Given the description of an element on the screen output the (x, y) to click on. 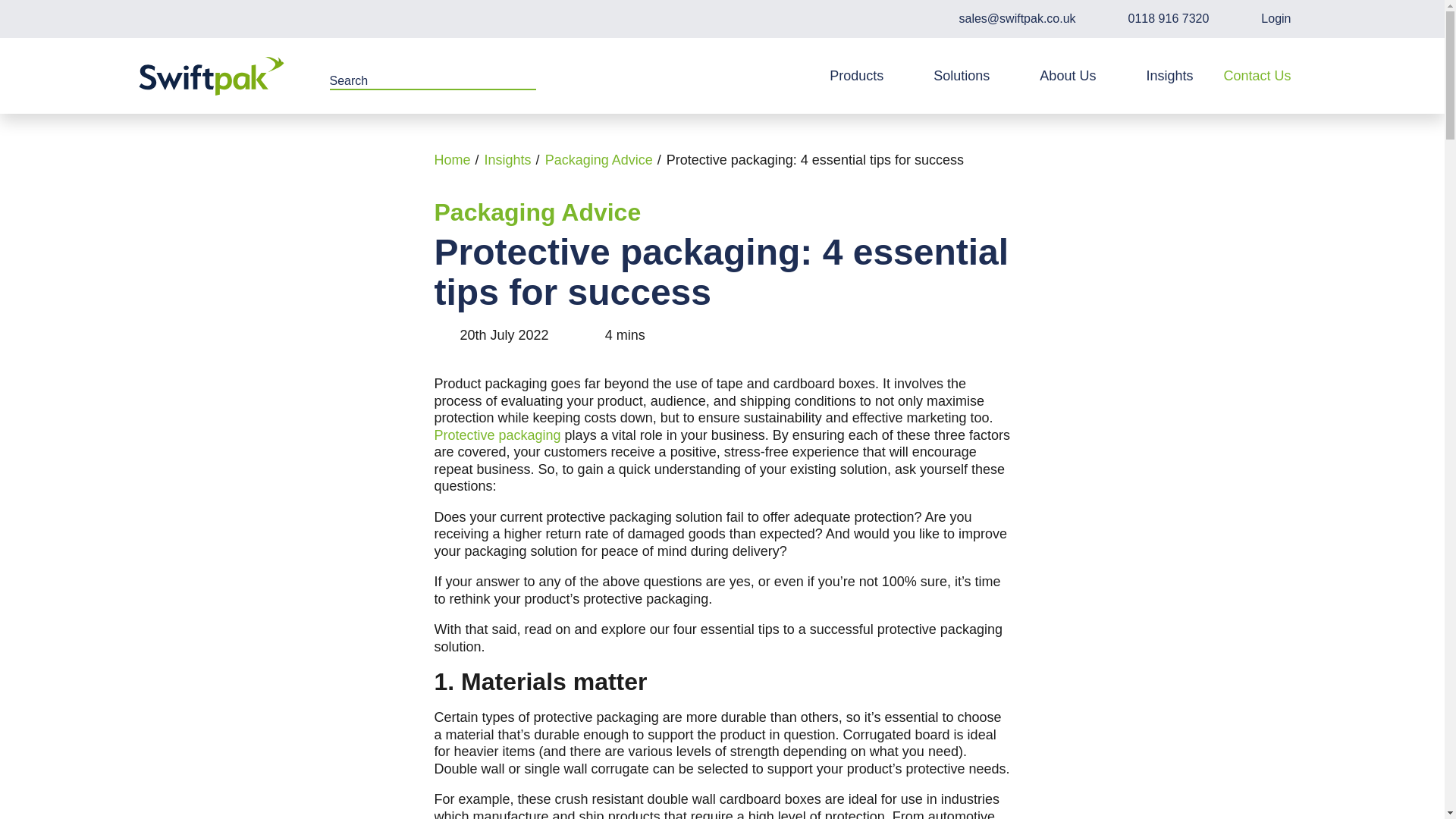
Solutions (971, 75)
About Us (1078, 75)
Login (1265, 18)
Products (865, 75)
Call us (1157, 18)
Email us (1005, 18)
Products (865, 75)
Solutions (971, 75)
Swiftpak Homepage (210, 75)
0118 916 7320 (1157, 18)
